Given the description of an element on the screen output the (x, y) to click on. 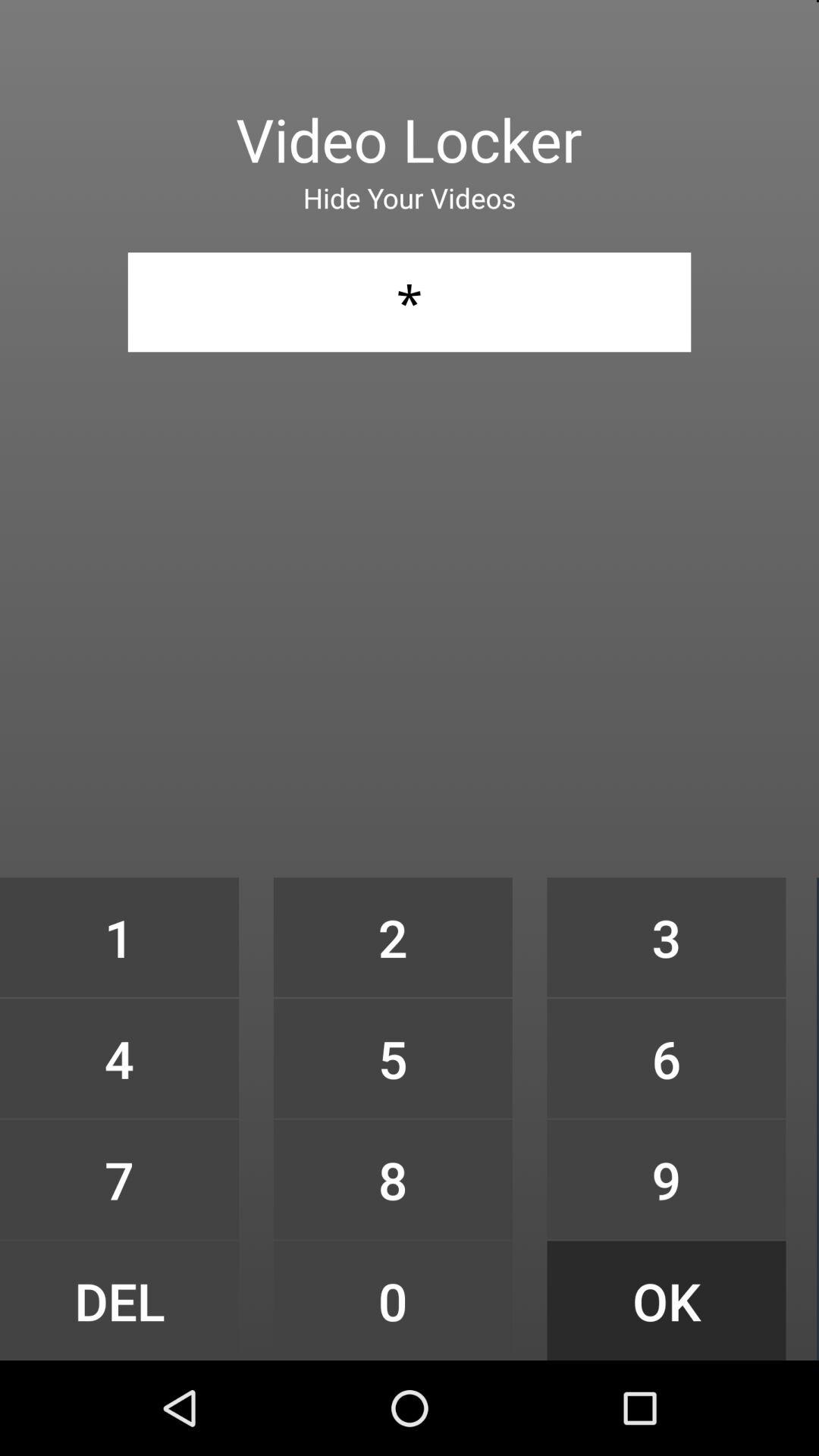
press icon below 9 (666, 1300)
